Given the description of an element on the screen output the (x, y) to click on. 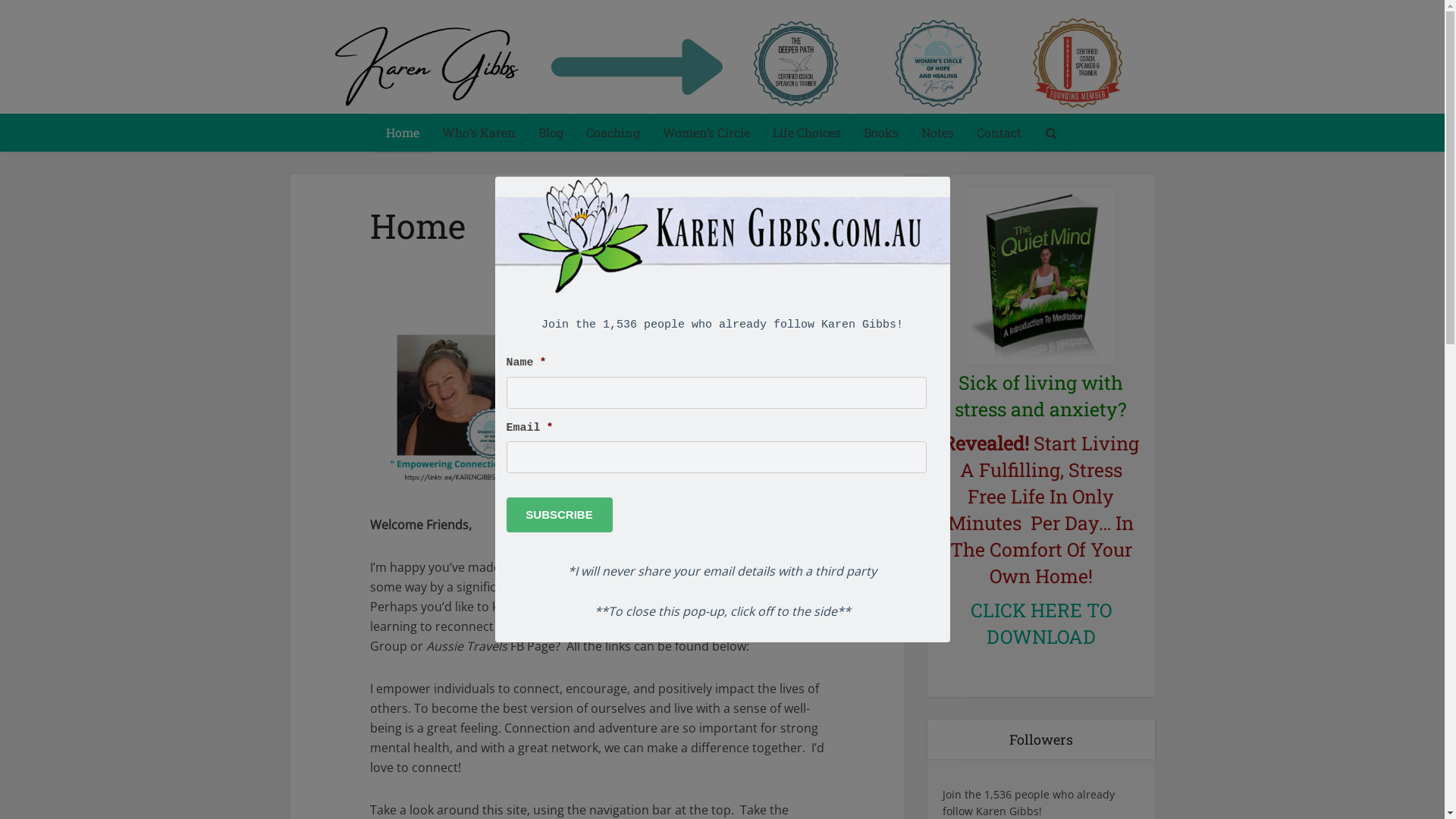
Home Element type: text (402, 132)
Notes Element type: text (937, 132)
Coaching Element type: text (612, 132)
Life Choices Element type: text (806, 132)
Contact Element type: text (998, 132)
Subscribe Element type: text (559, 514)
Blog Element type: text (550, 132)
Empowering Connections Element type: hover (721, 61)
Books Element type: text (881, 132)
CLICK HERE TO DOWNLOAD Element type: text (1040, 623)
